Given the description of an element on the screen output the (x, y) to click on. 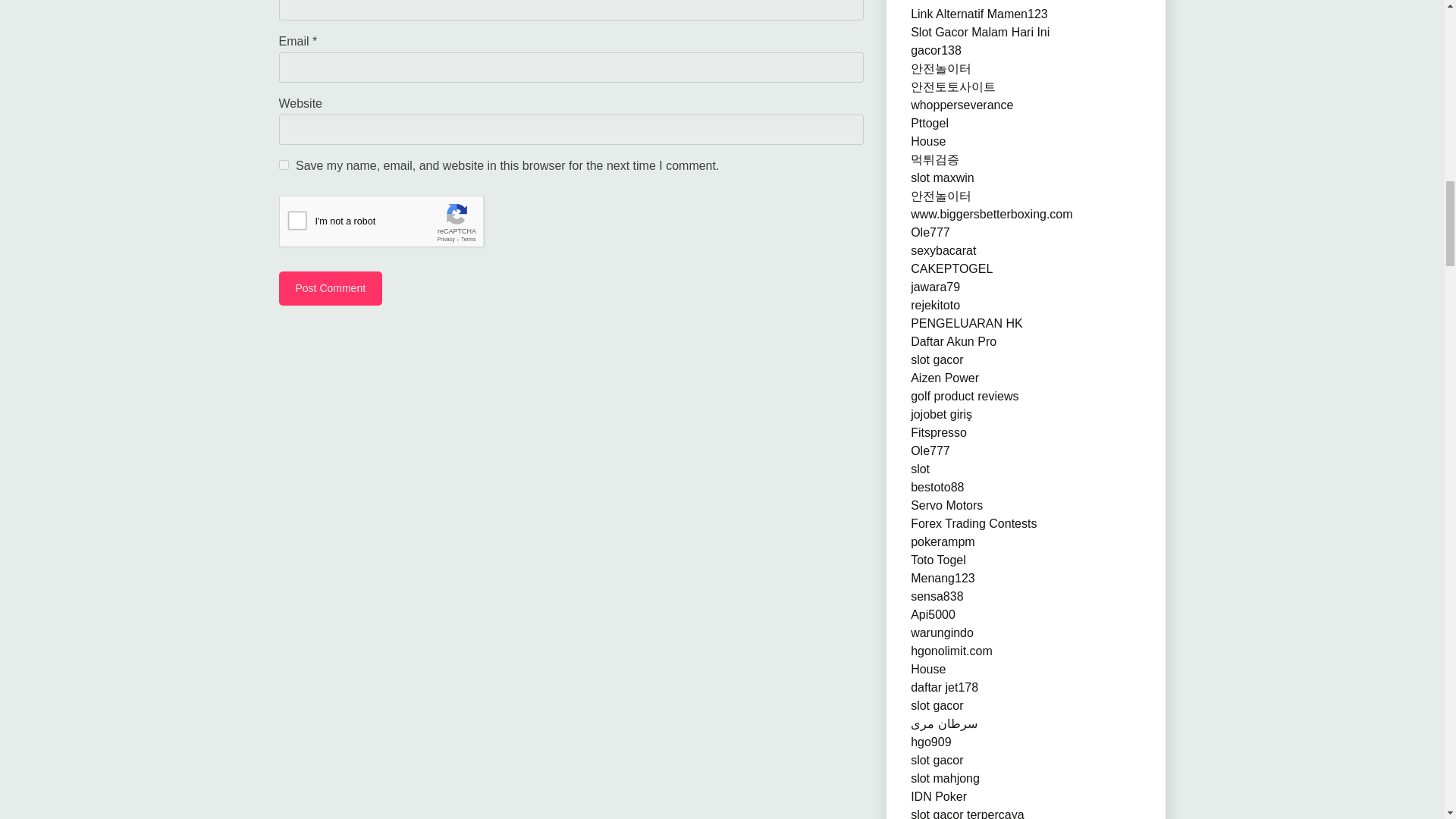
Post Comment (330, 288)
Post Comment (330, 288)
reCAPTCHA (394, 224)
yes (283, 164)
